Given the description of an element on the screen output the (x, y) to click on. 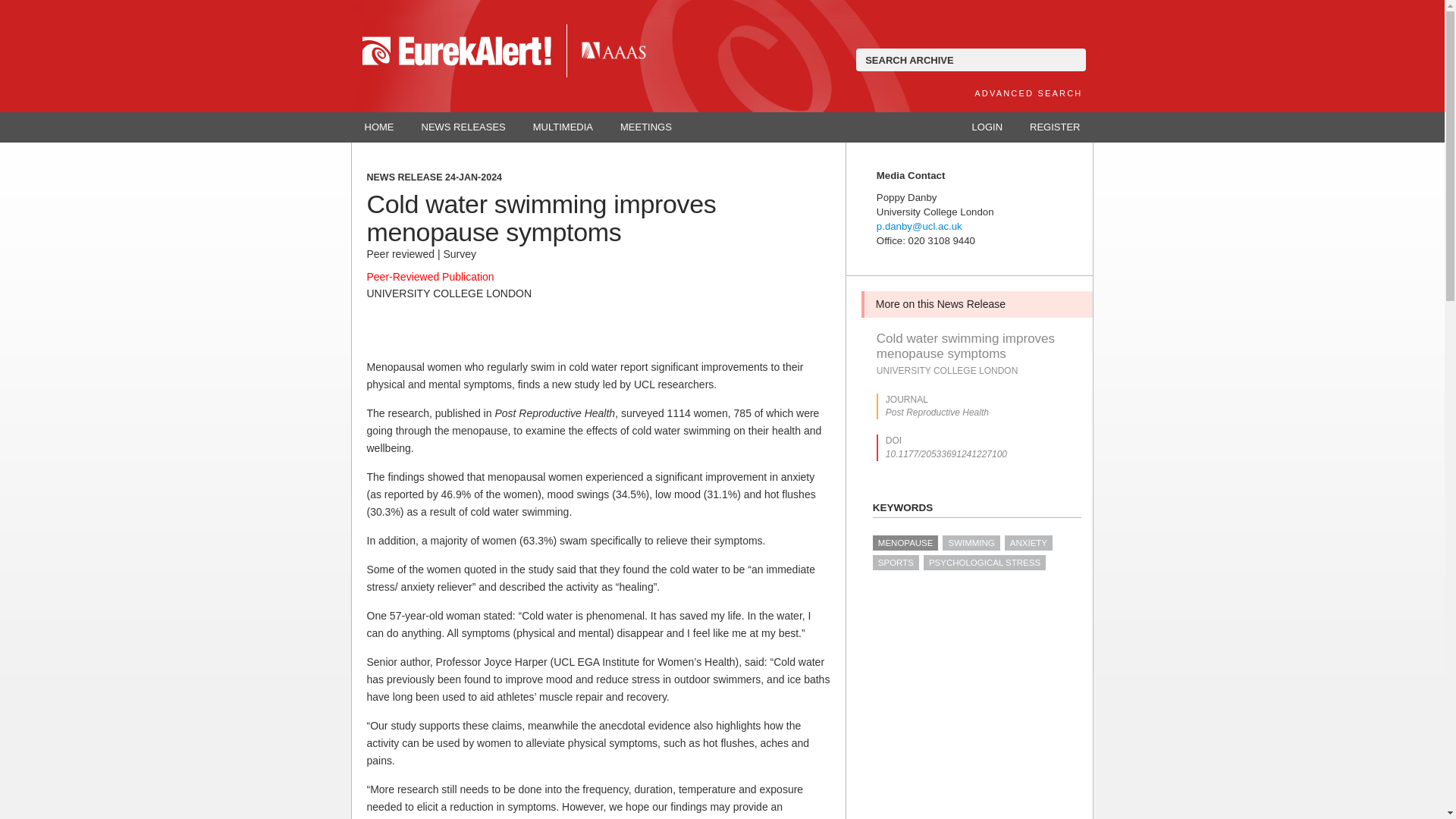
LOGIN (987, 127)
MULTIMEDIA (563, 127)
SWIMMING (970, 542)
Peer-Reviewed Publication (430, 276)
MENOPAUSE (905, 542)
NEWS RELEASES (463, 127)
HOME (378, 127)
ANXIETY (1028, 542)
MEETINGS (646, 127)
ADVANCED SEARCH (1027, 92)
Cold water swimming improves menopause symptoms (977, 346)
REGISTER (1054, 127)
SPORTS (895, 562)
PSYCHOLOGICAL STRESS (984, 562)
